Given the description of an element on the screen output the (x, y) to click on. 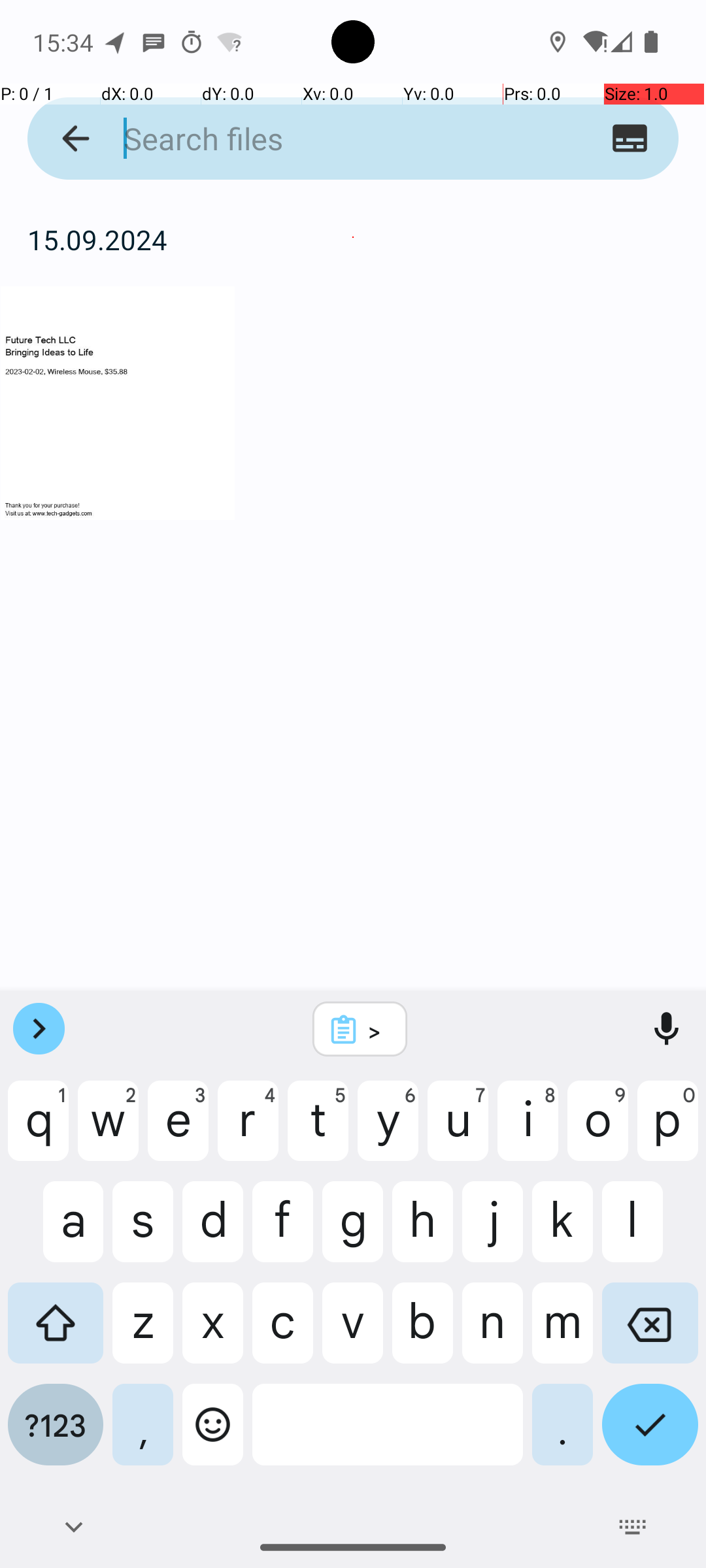
Search files Element type: android.widget.EditText (328, 138)
15.09.2024 Element type: android.widget.TextView (353, 239)
>  Element type: android.widget.TextView (377, 1029)
